Given the description of an element on the screen output the (x, y) to click on. 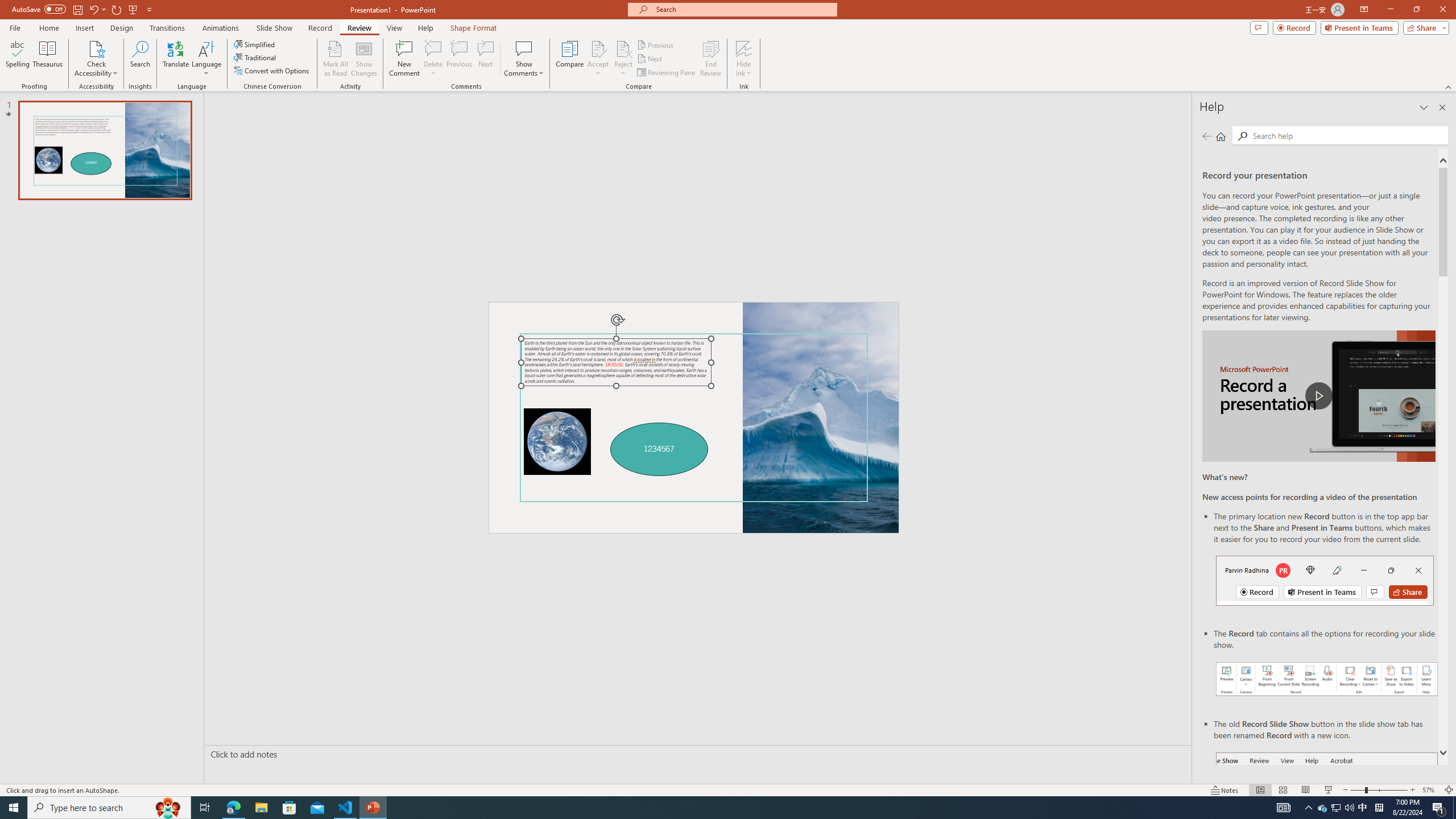
Previous page (1206, 136)
Reject Change (622, 48)
Show Changes (363, 58)
Spelling... (17, 58)
Thesaurus... (47, 58)
Simplified (254, 44)
Traditional (255, 56)
